Given the description of an element on the screen output the (x, y) to click on. 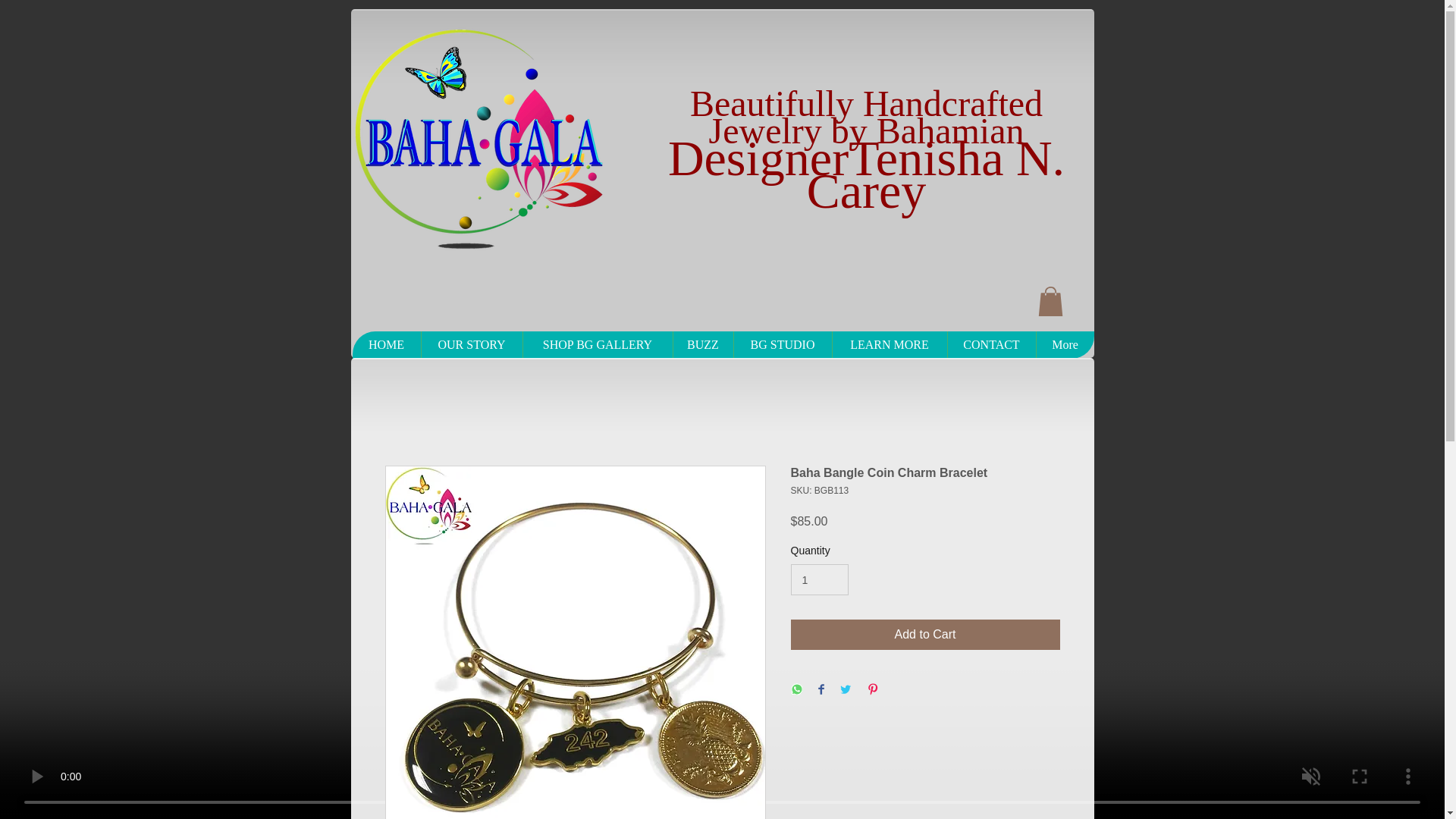
CONTACT (990, 344)
BG NEW CLEAR 2017 LOGO.png (477, 137)
HOME (386, 344)
BG STUDIO (781, 344)
BUZZ (701, 344)
LEARN MORE (888, 344)
OUR STORY (470, 344)
1 (818, 579)
SHOP BG GALLERY (596, 344)
Add to Cart (924, 634)
